Given the description of an element on the screen output the (x, y) to click on. 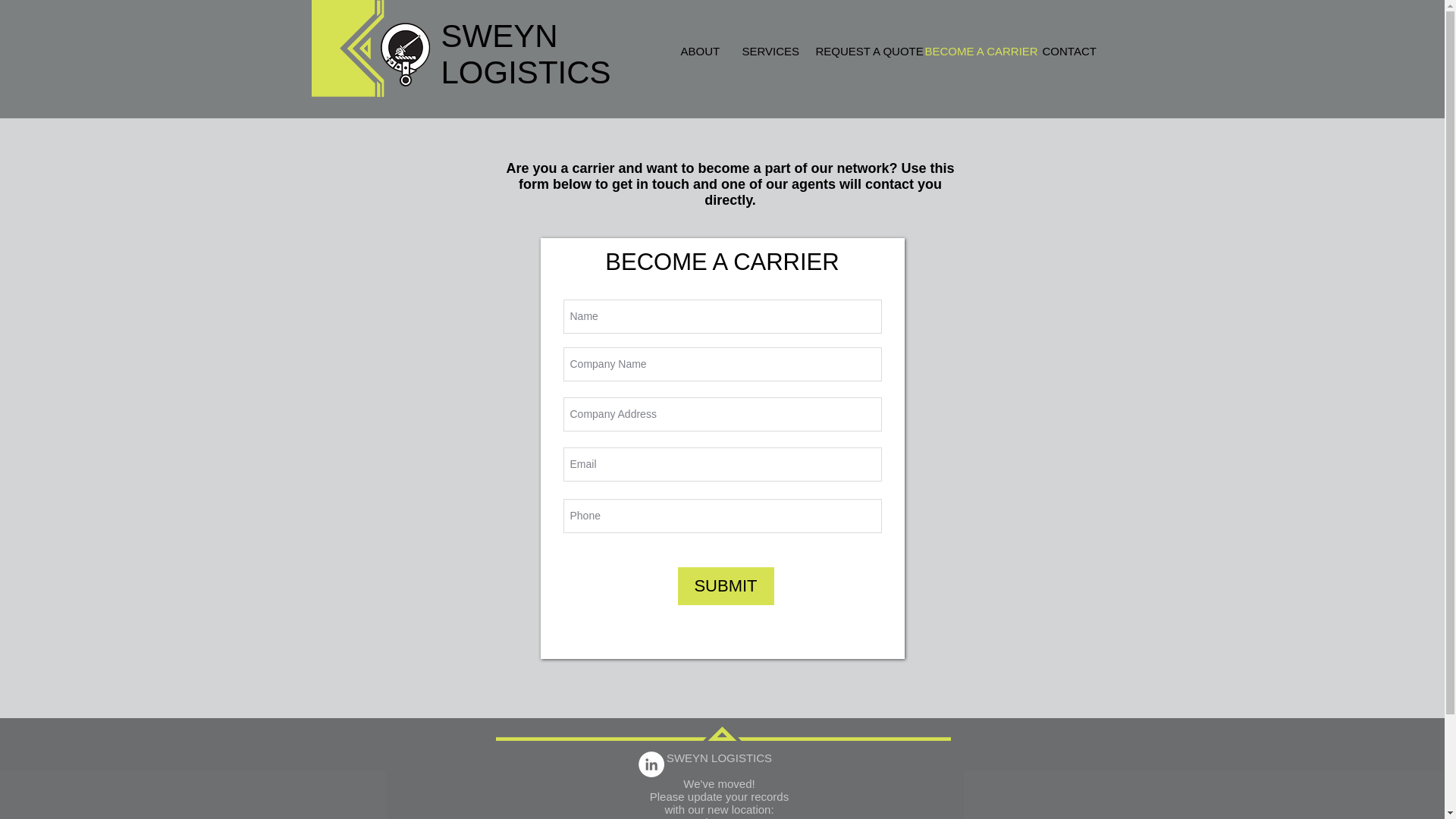
CONTACT (1066, 51)
ABOUT (699, 51)
REQUEST A QUOTE (857, 51)
SERVICES (767, 51)
BECOME A CARRIER (971, 51)
SUBMIT (726, 586)
SWEYN LOGISTICS (526, 54)
